Given the description of an element on the screen output the (x, y) to click on. 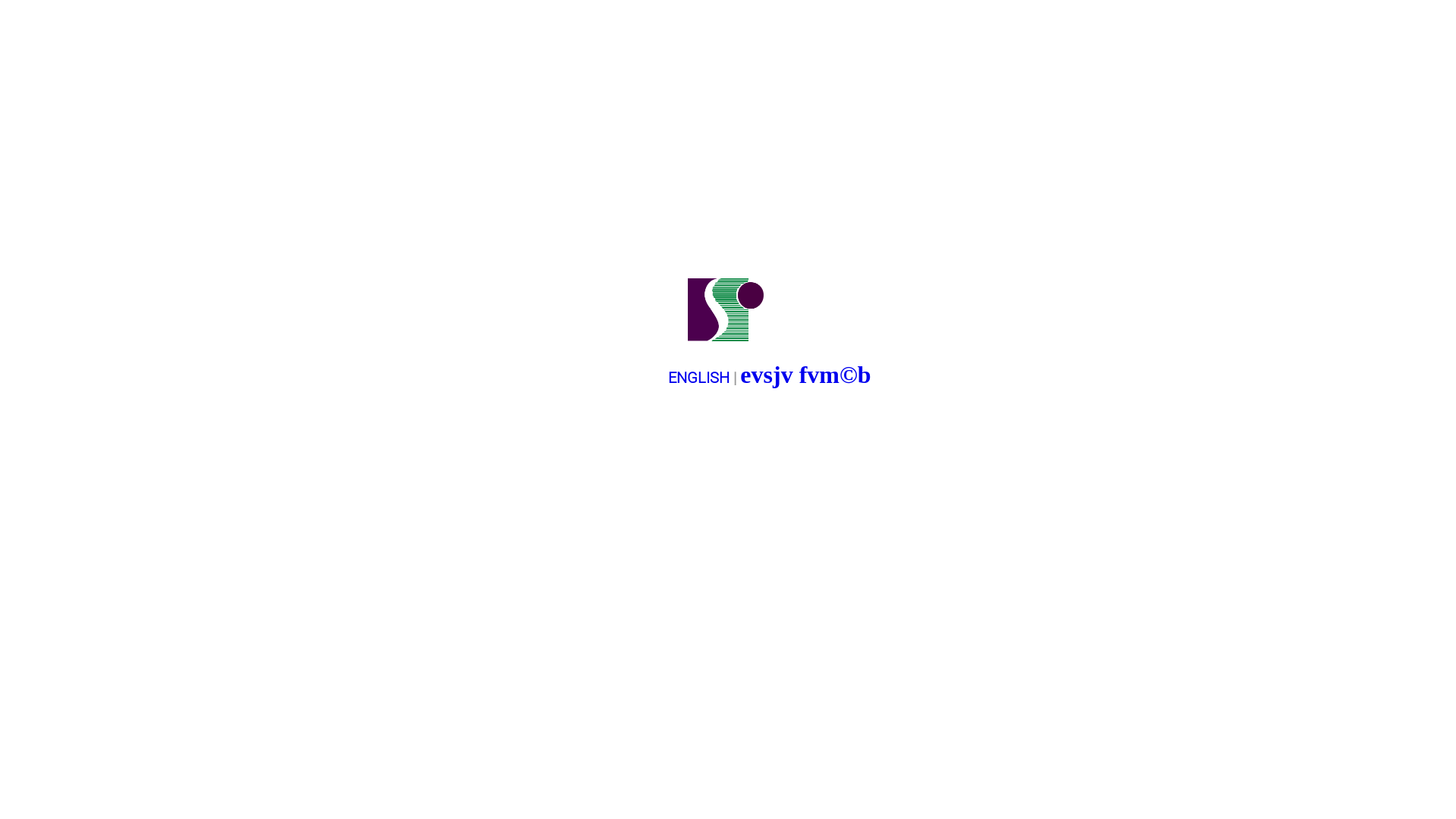
ENGLISH Element type: text (698, 377)
